Given the description of an element on the screen output the (x, y) to click on. 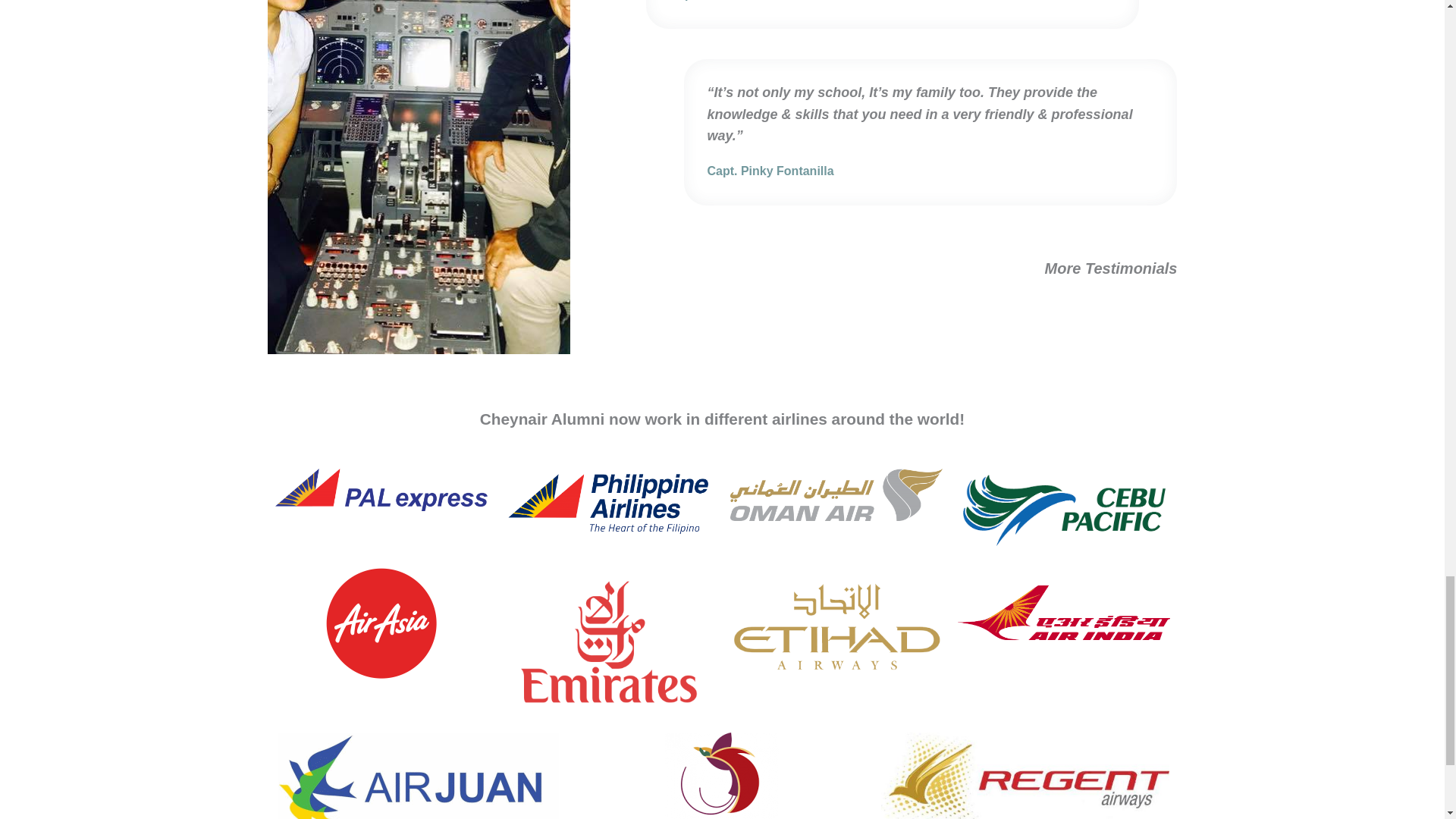
585e9ddbcb11b227491c34fc (608, 641)
